Given the description of an element on the screen output the (x, y) to click on. 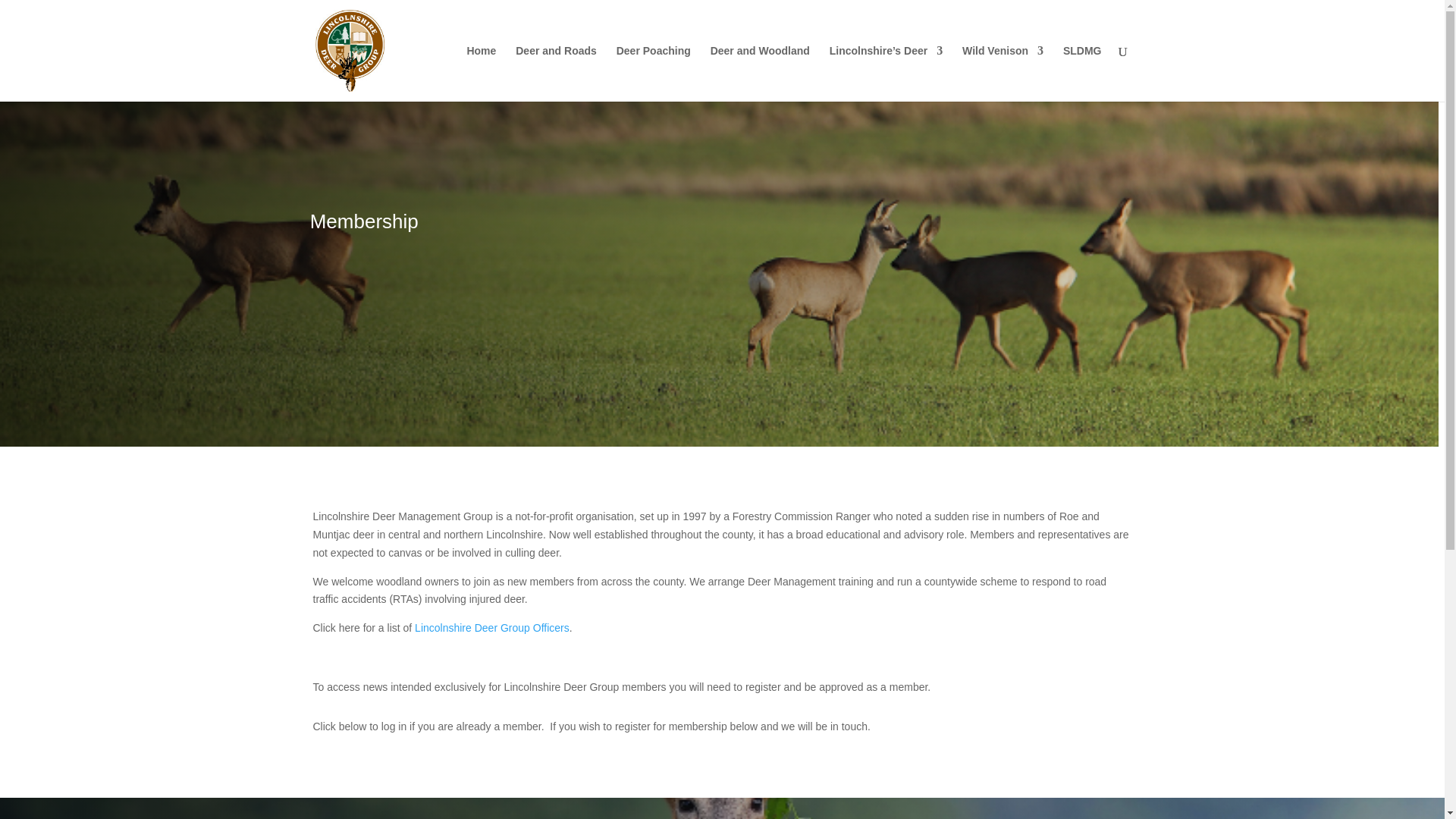
Deer and Roads (555, 73)
Lincolnshire Deer Group Officers (491, 627)
Deer and Woodland (759, 73)
Deer Poaching (652, 73)
Wild Venison (1002, 73)
